Given the description of an element on the screen output the (x, y) to click on. 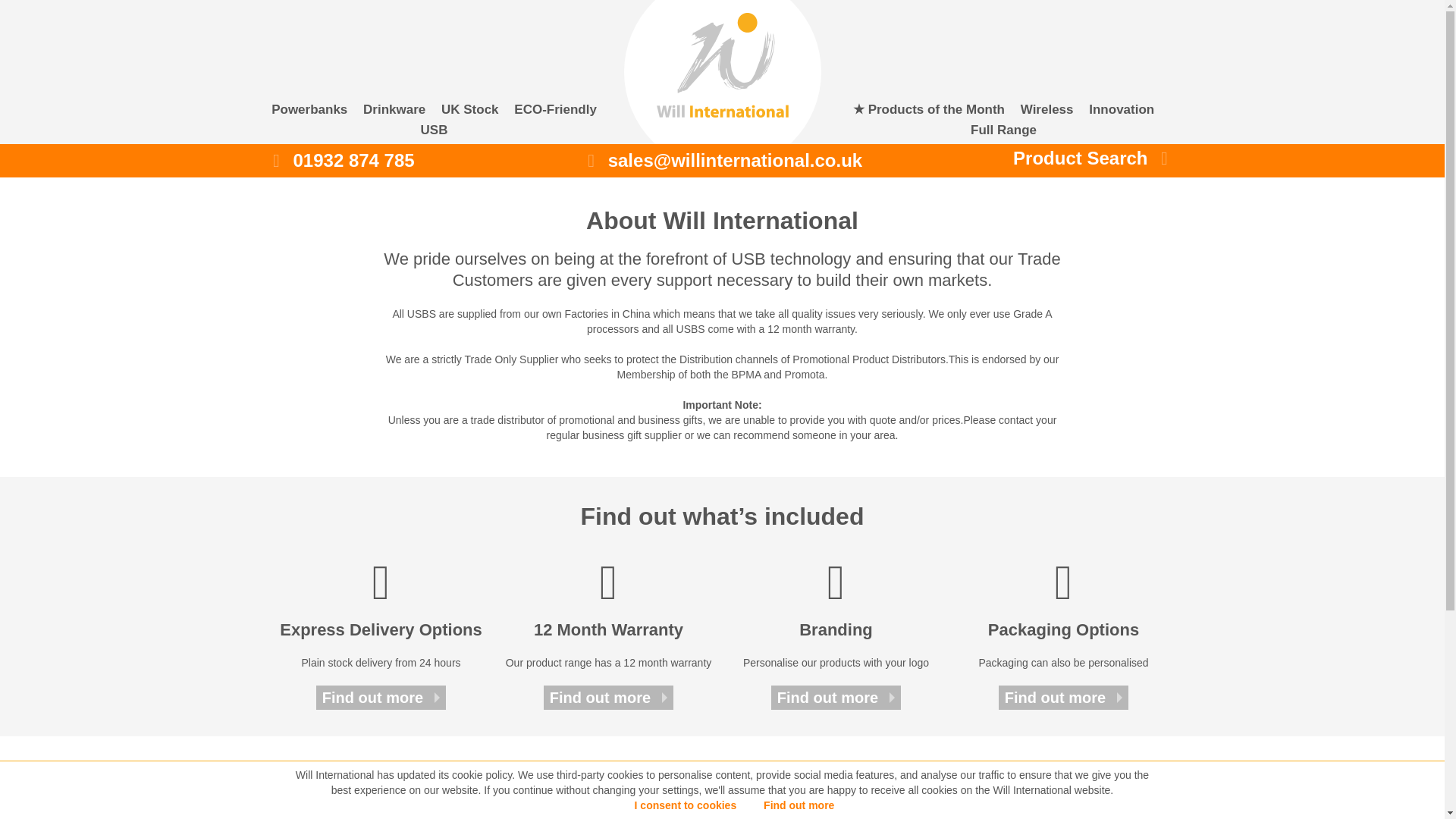
UK Stock (470, 112)
Powerbanks (308, 112)
Find out more (1063, 697)
Product Search (1074, 158)
USB (434, 132)
Drinkware (393, 112)
Wireless (1047, 112)
Full Range (1003, 132)
01932 874 785 (418, 160)
Find out more (380, 697)
Find out more (836, 697)
Innovation (1121, 112)
ECO-Friendly (554, 112)
Find out more (798, 805)
TOP (722, 792)
